Given the description of an element on the screen output the (x, y) to click on. 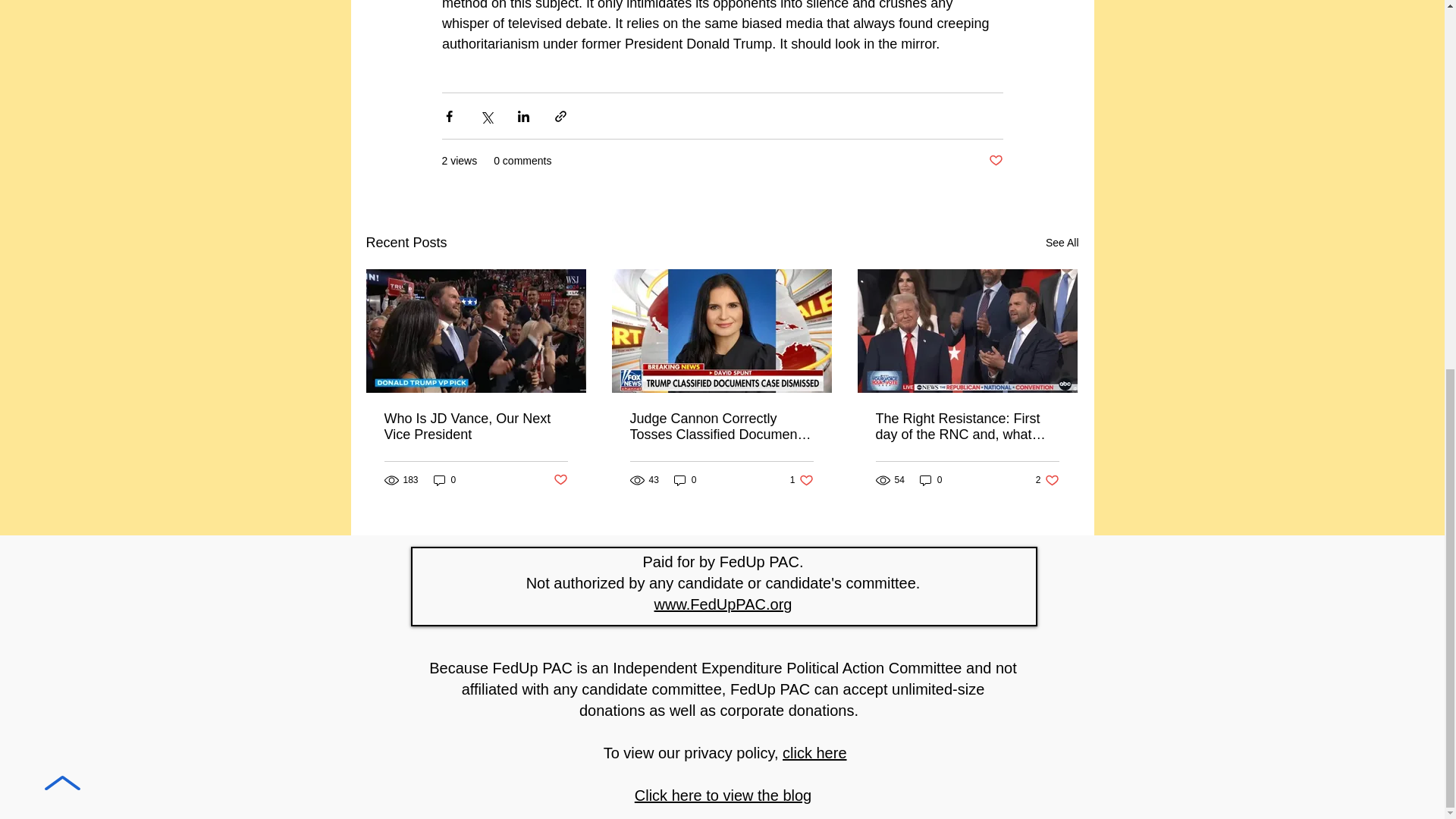
Post not marked as liked (995, 160)
Post not marked as liked (560, 480)
0 (685, 480)
Who Is JD Vance, Our Next Vice President (475, 427)
0 (445, 480)
See All (1061, 242)
